Given the description of an element on the screen output the (x, y) to click on. 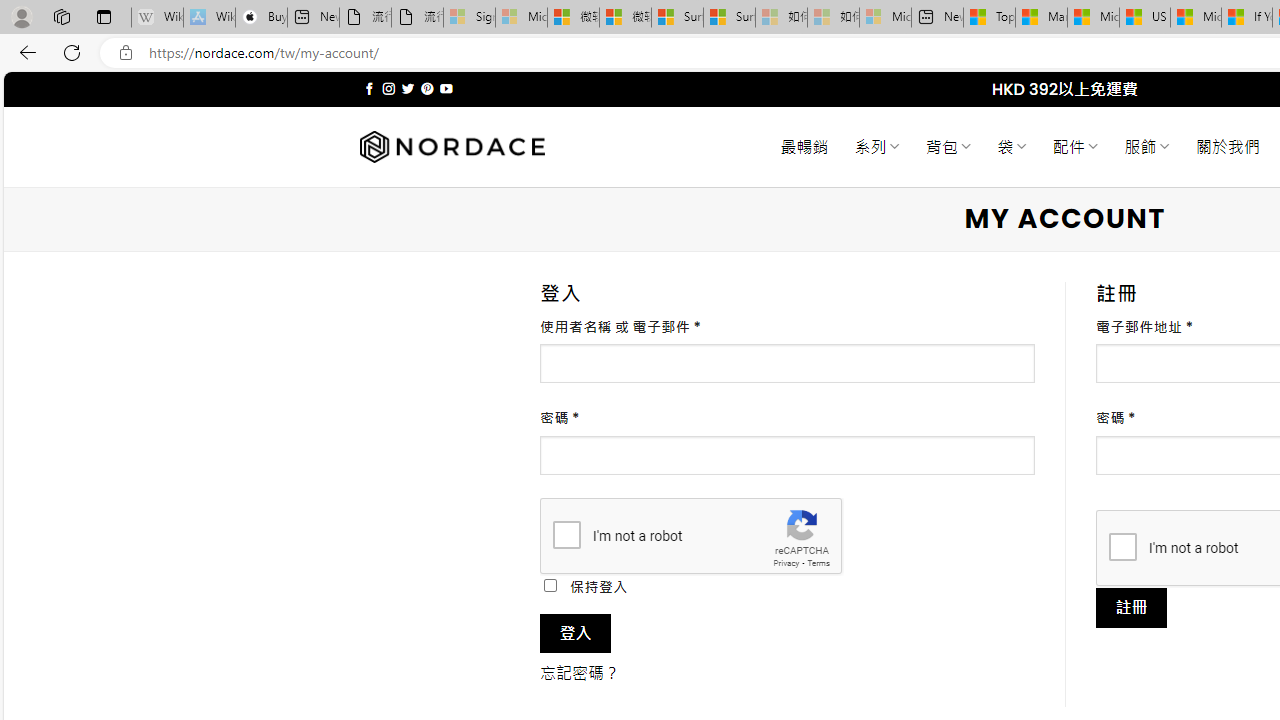
US Heat Deaths Soared To Record High Last Year (1144, 17)
Follow on YouTube (446, 88)
Terms (818, 562)
